Given the description of an element on the screen output the (x, y) to click on. 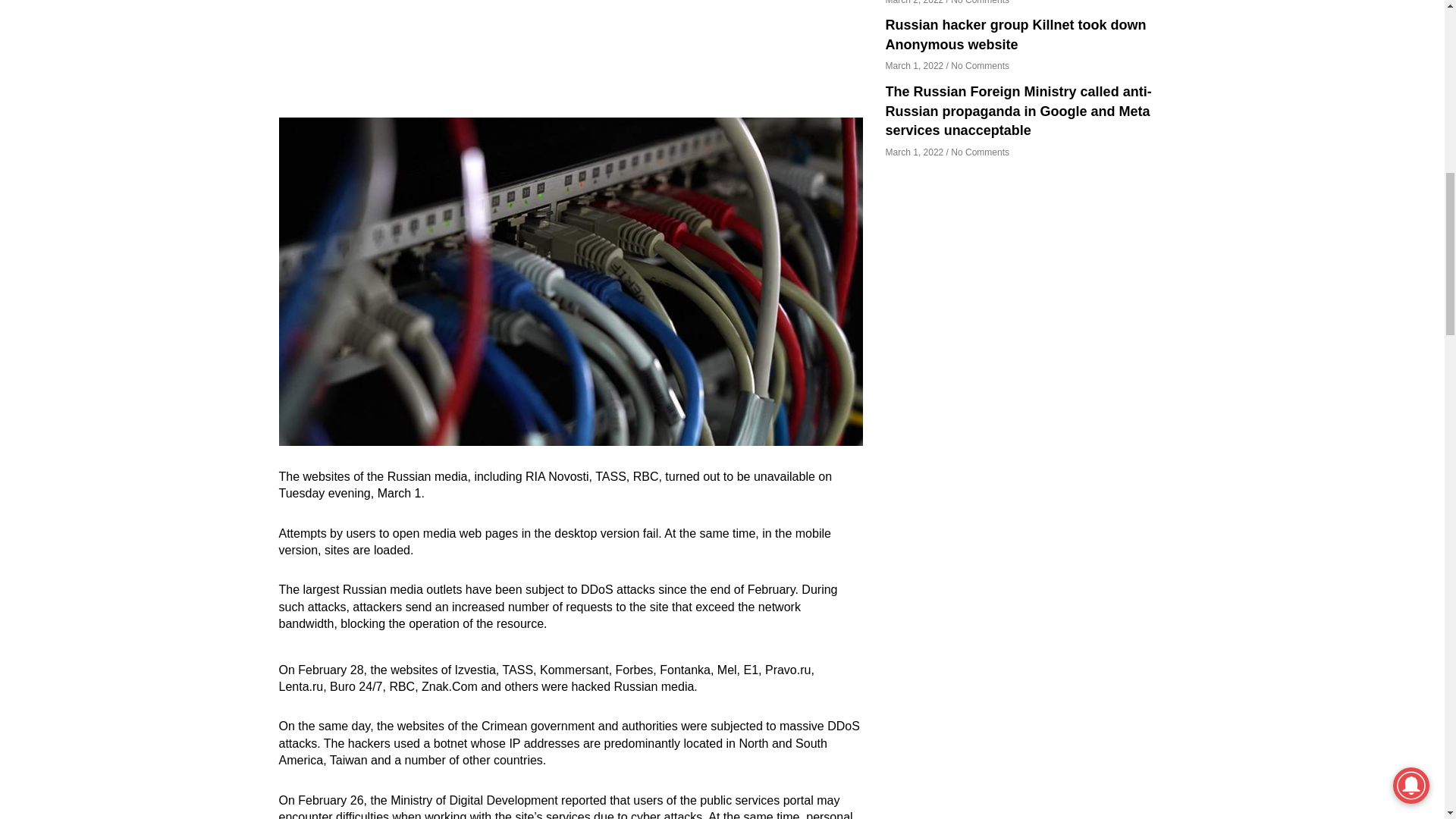
Advertisement (571, 55)
